Given the description of an element on the screen output the (x, y) to click on. 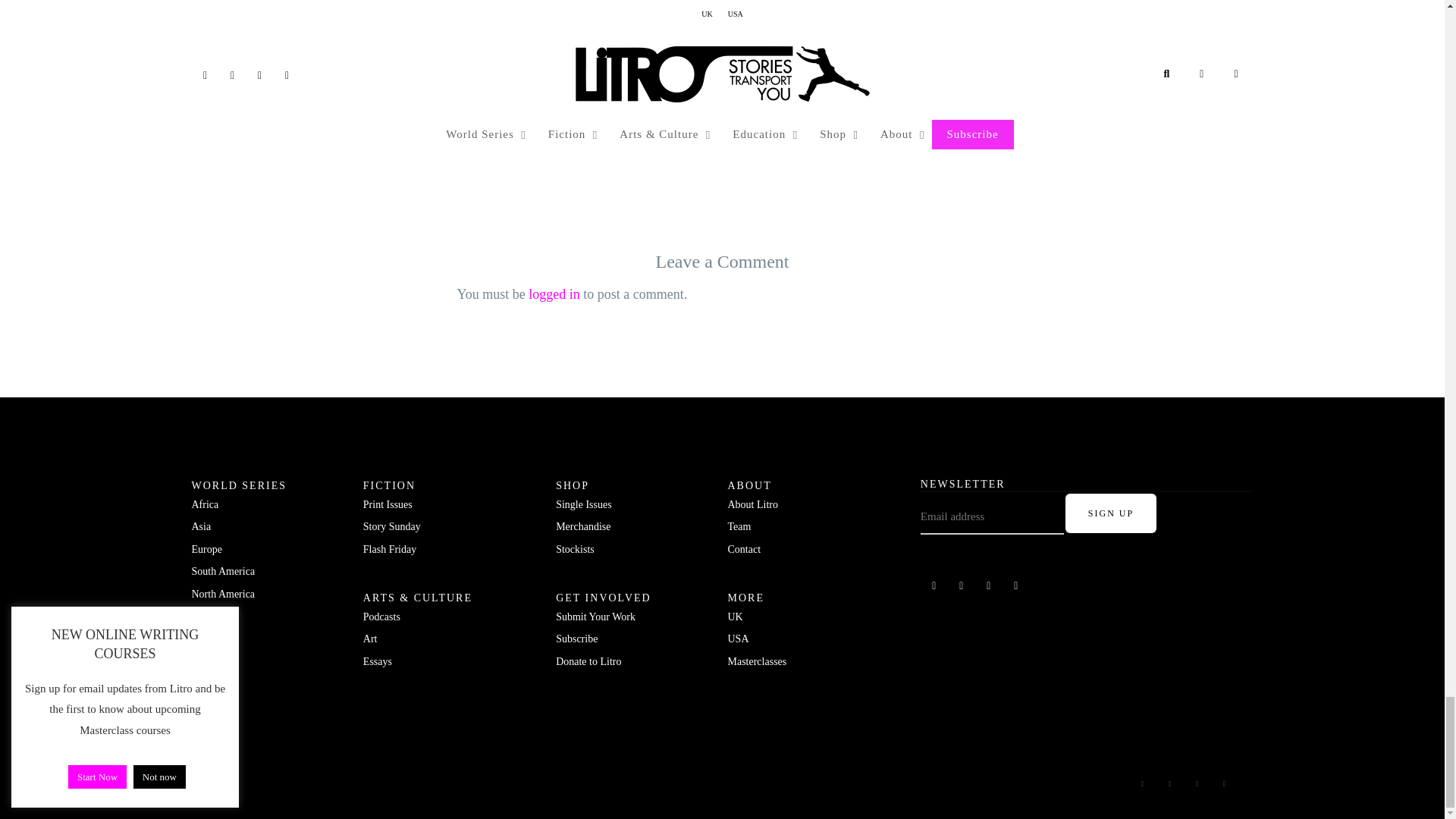
Sign up (1110, 513)
Flickr (961, 586)
Facebook (933, 586)
